Given the description of an element on the screen output the (x, y) to click on. 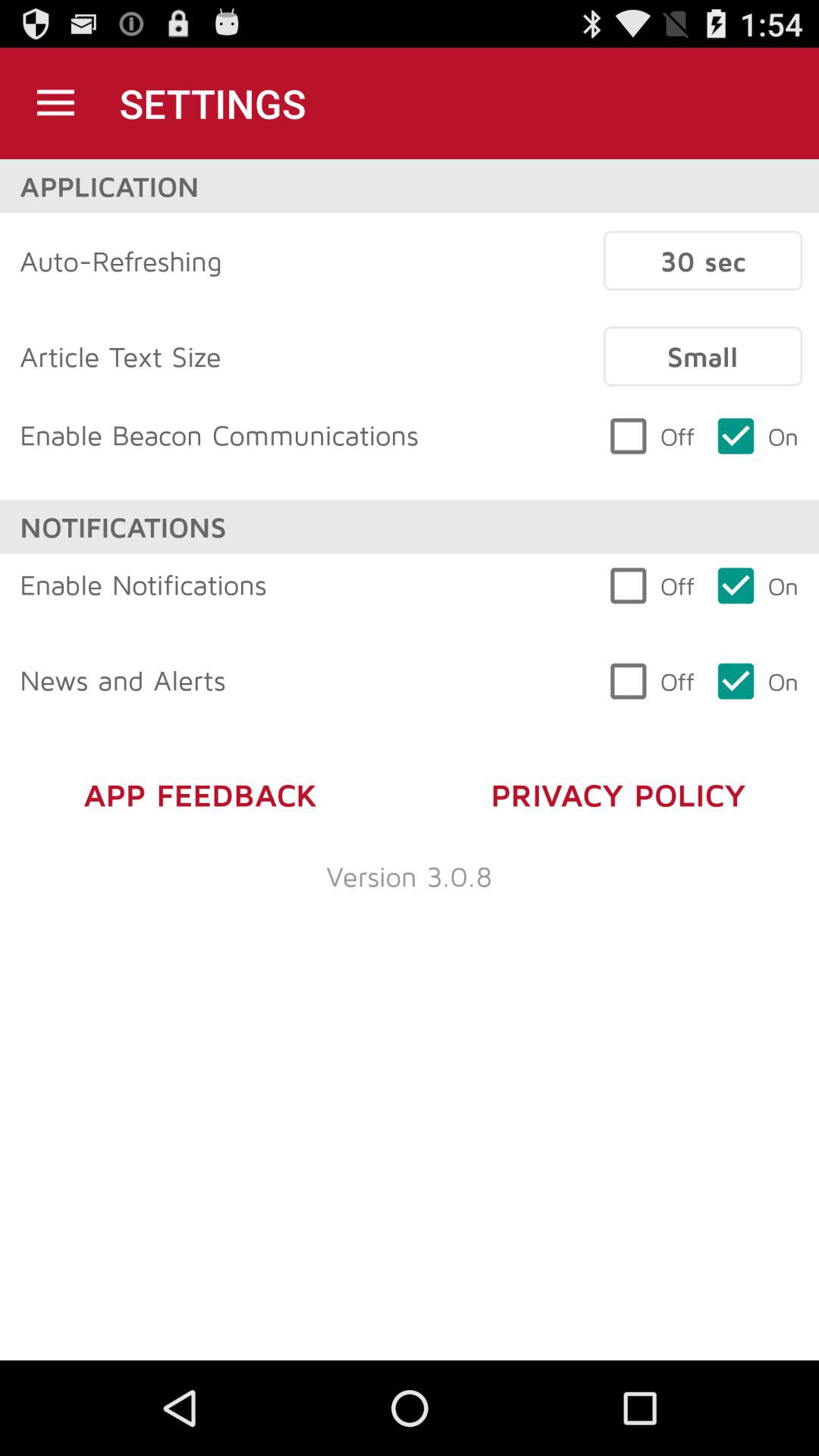
show more (55, 103)
